Given the description of an element on the screen output the (x, y) to click on. 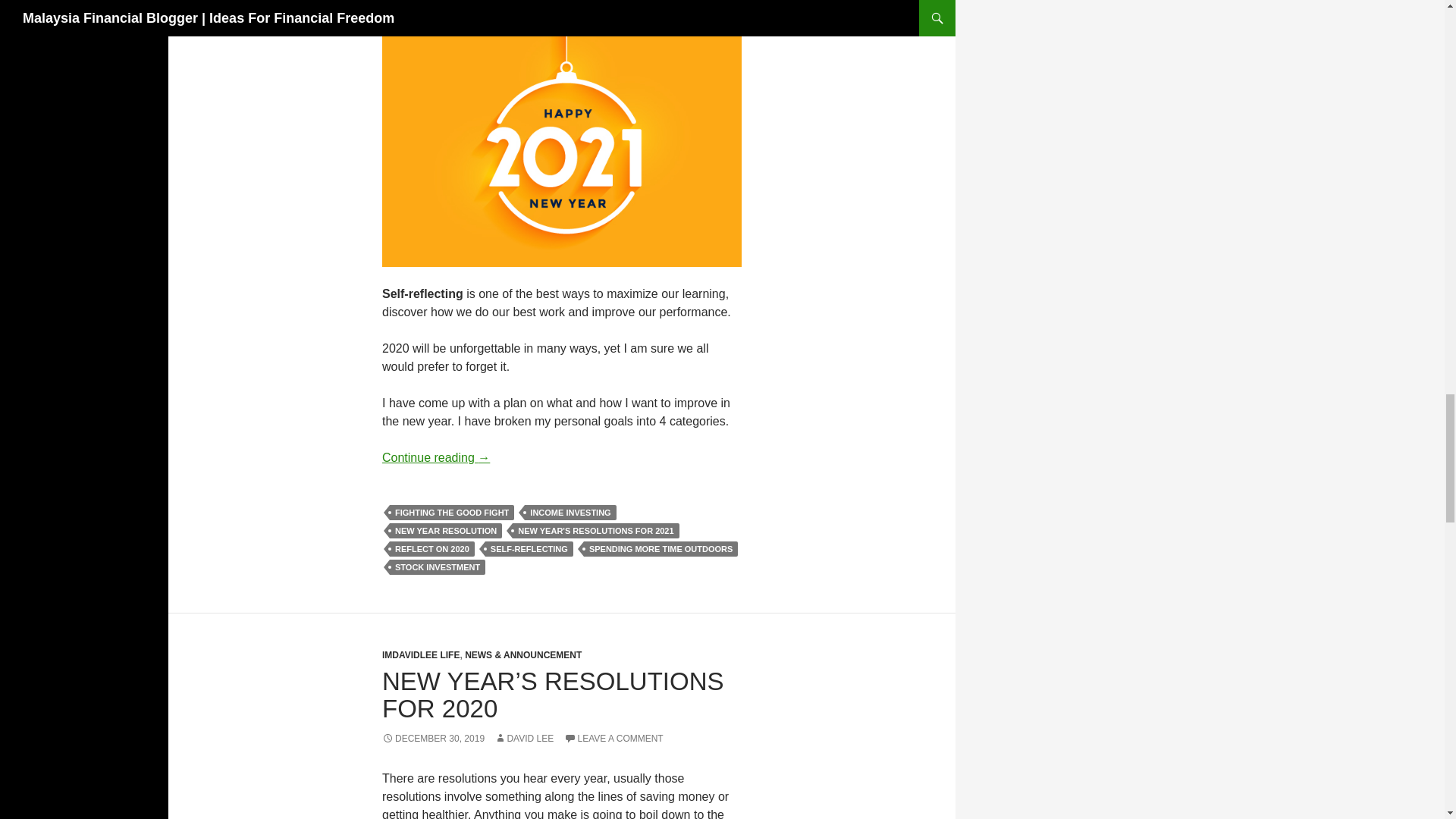
SELF-REFLECTING (528, 548)
SPENDING MORE TIME OUTDOORS (660, 548)
REFLECT ON 2020 (432, 548)
INCOME INVESTING (569, 512)
FIGHTING THE GOOD FIGHT (451, 512)
NEW YEAR'S RESOLUTIONS FOR 2021 (595, 530)
STOCK INVESTMENT (437, 566)
NEW YEAR RESOLUTION (446, 530)
